Given the description of an element on the screen output the (x, y) to click on. 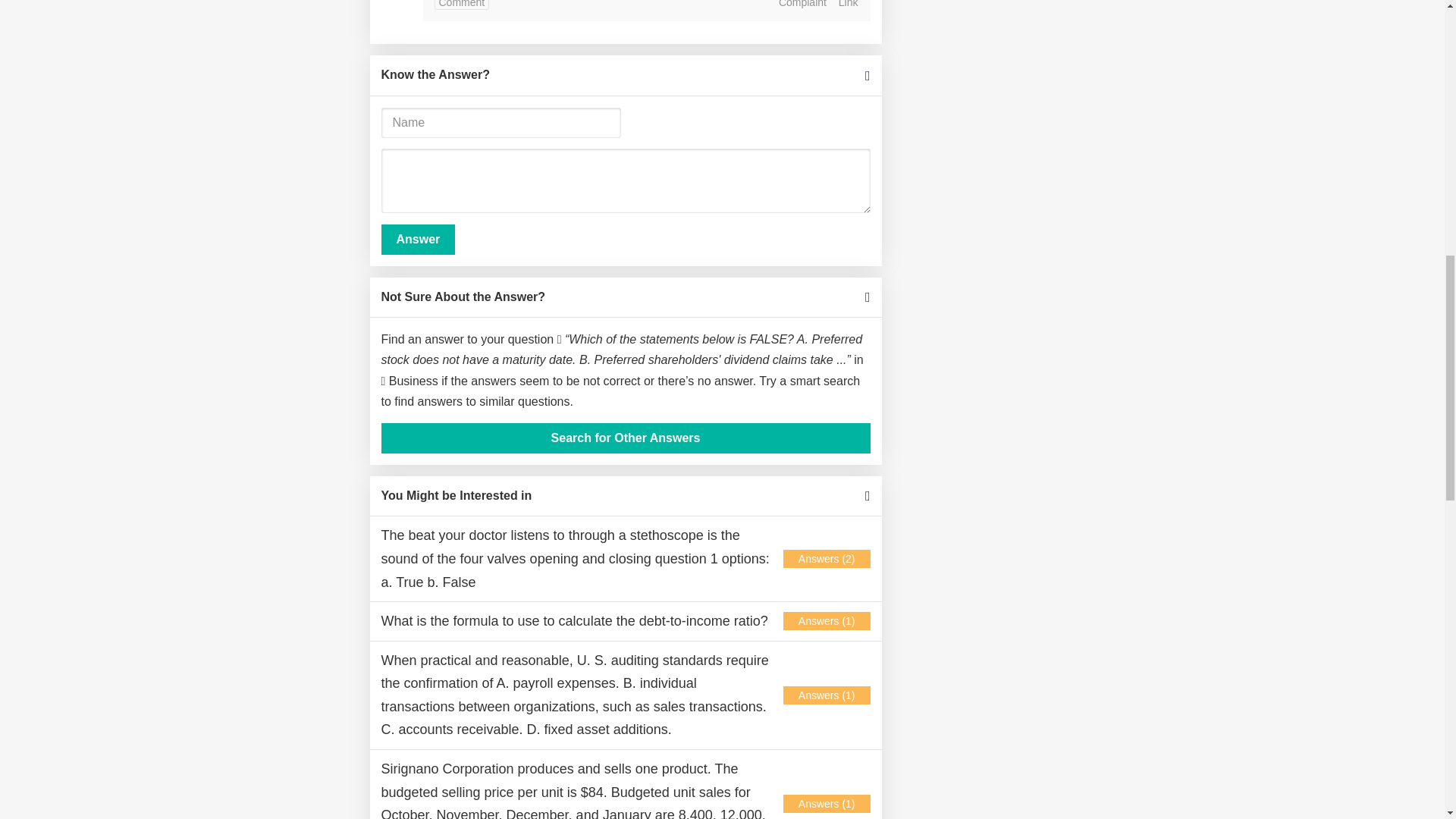
Answer (417, 239)
Search for Other Answers (624, 438)
Comment (461, 4)
Complaint (802, 4)
Link (848, 4)
